Given the description of an element on the screen output the (x, y) to click on. 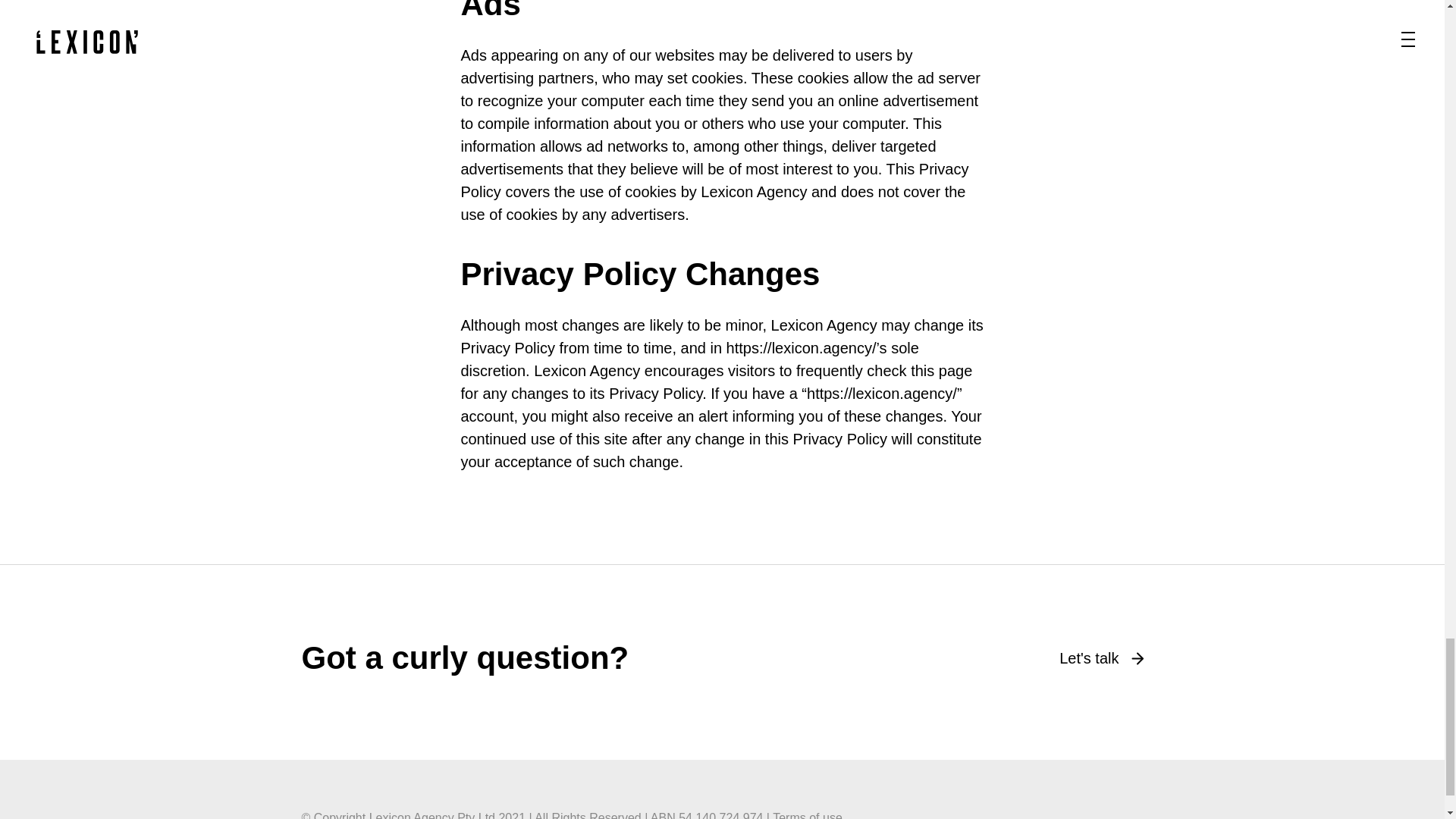
Terms of use (808, 815)
Let's talk (1100, 658)
